Given the description of an element on the screen output the (x, y) to click on. 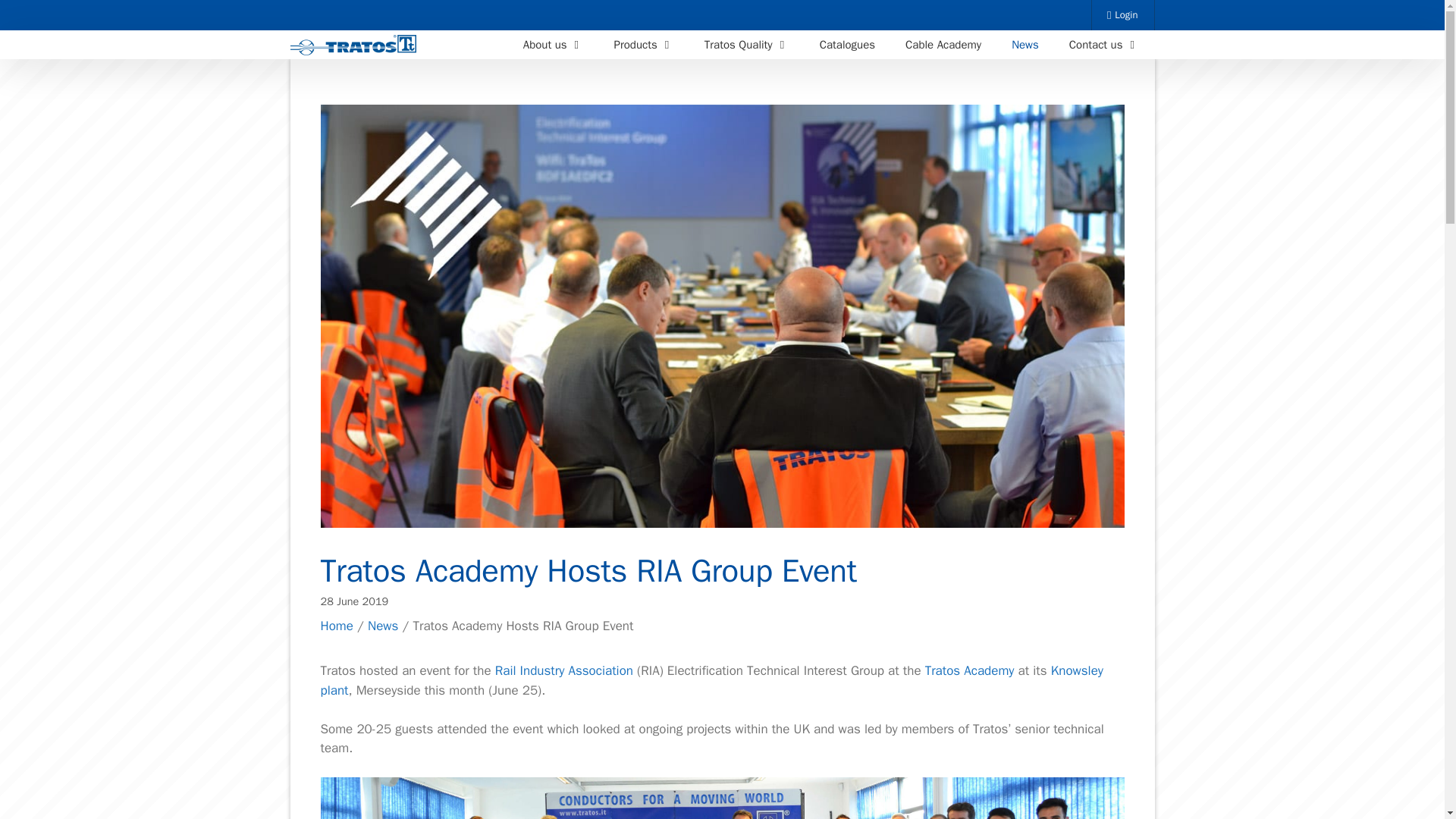
Products (643, 44)
Login (1123, 15)
Tratos Group (352, 45)
Tratos Group (356, 45)
Tratos Quality (746, 44)
About us (553, 44)
